Given the description of an element on the screen output the (x, y) to click on. 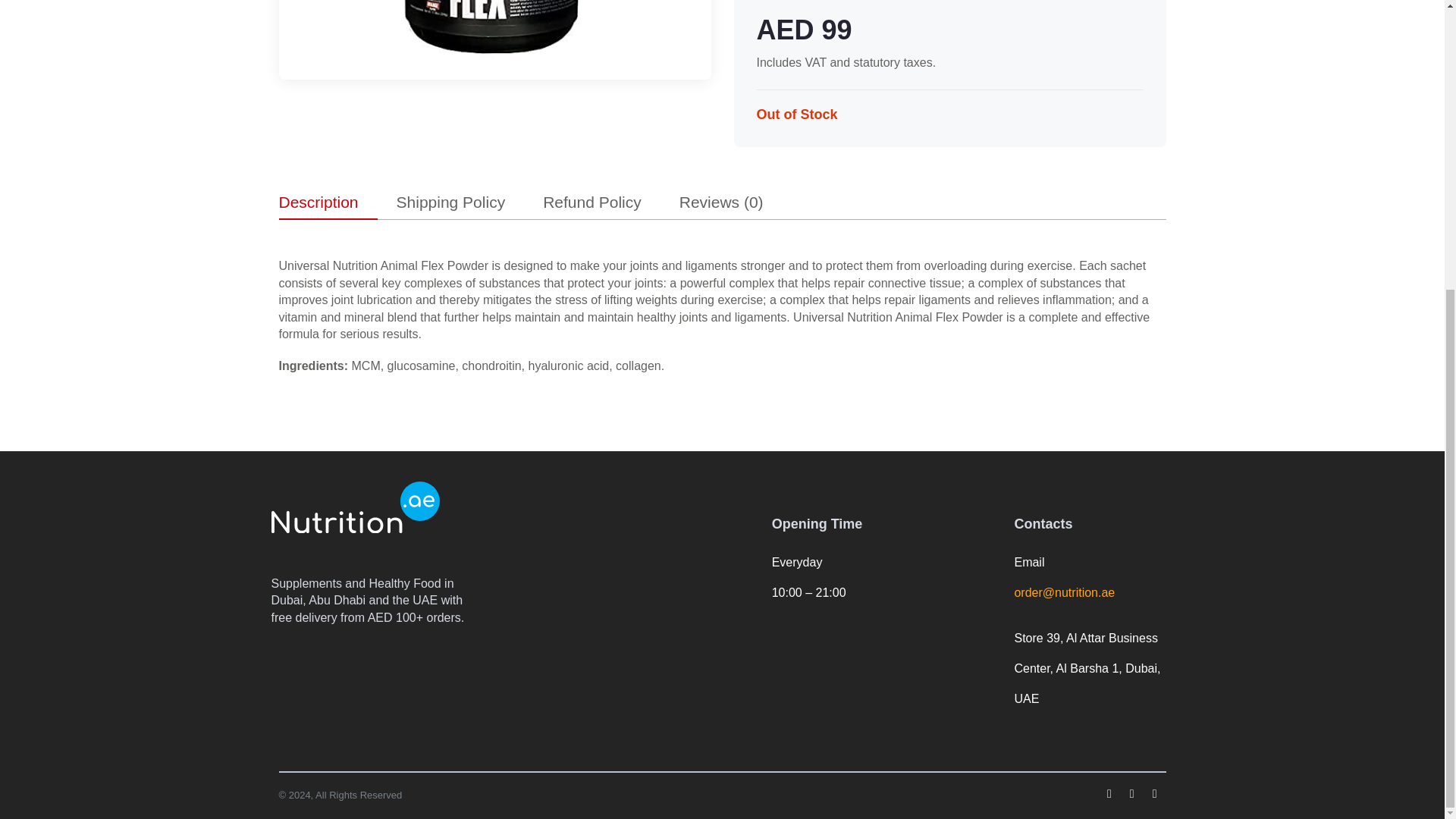
Nutrition.ae (354, 507)
